Given the description of an element on the screen output the (x, y) to click on. 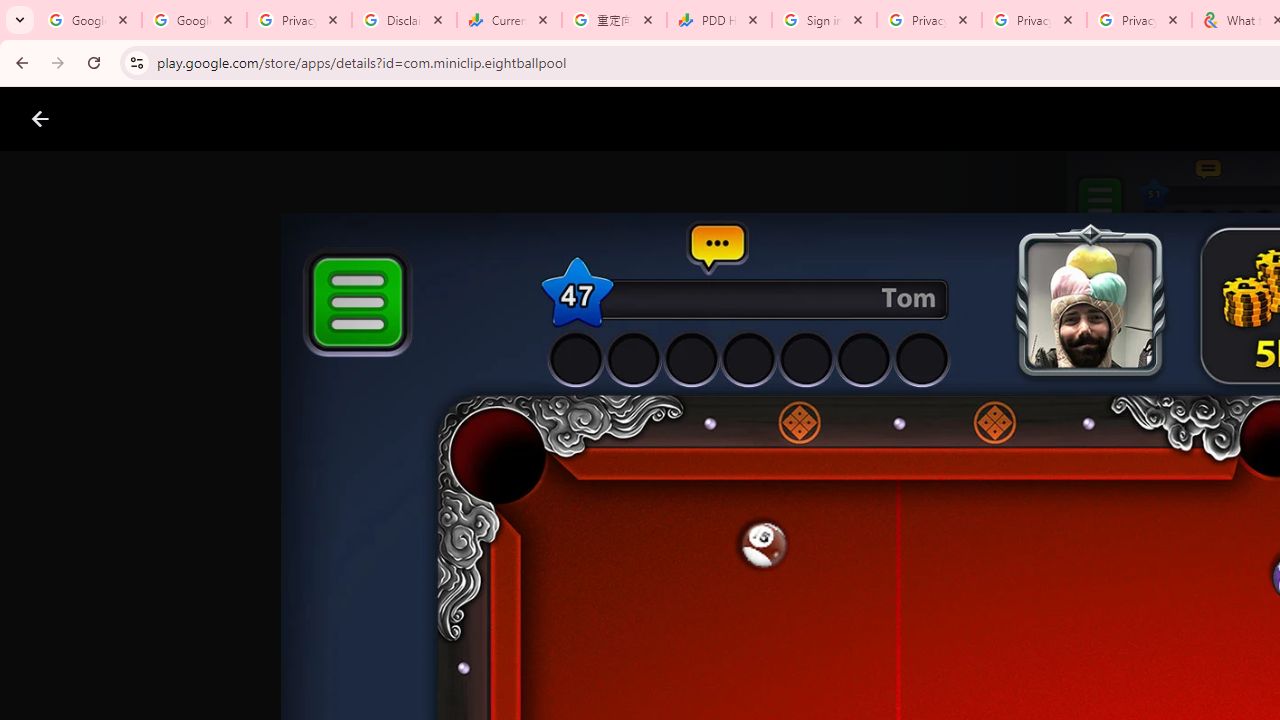
Miniclip.com (680, 586)
Kids (385, 119)
More info about this content rating (1013, 678)
Google Play logo (111, 119)
Sign in - Google Accounts (823, 20)
Apps (321, 119)
Privacy Checkup (1033, 20)
PDD Holdings Inc - ADR (PDD) Price & News - Google Finance (718, 20)
